Given the description of an element on the screen output the (x, y) to click on. 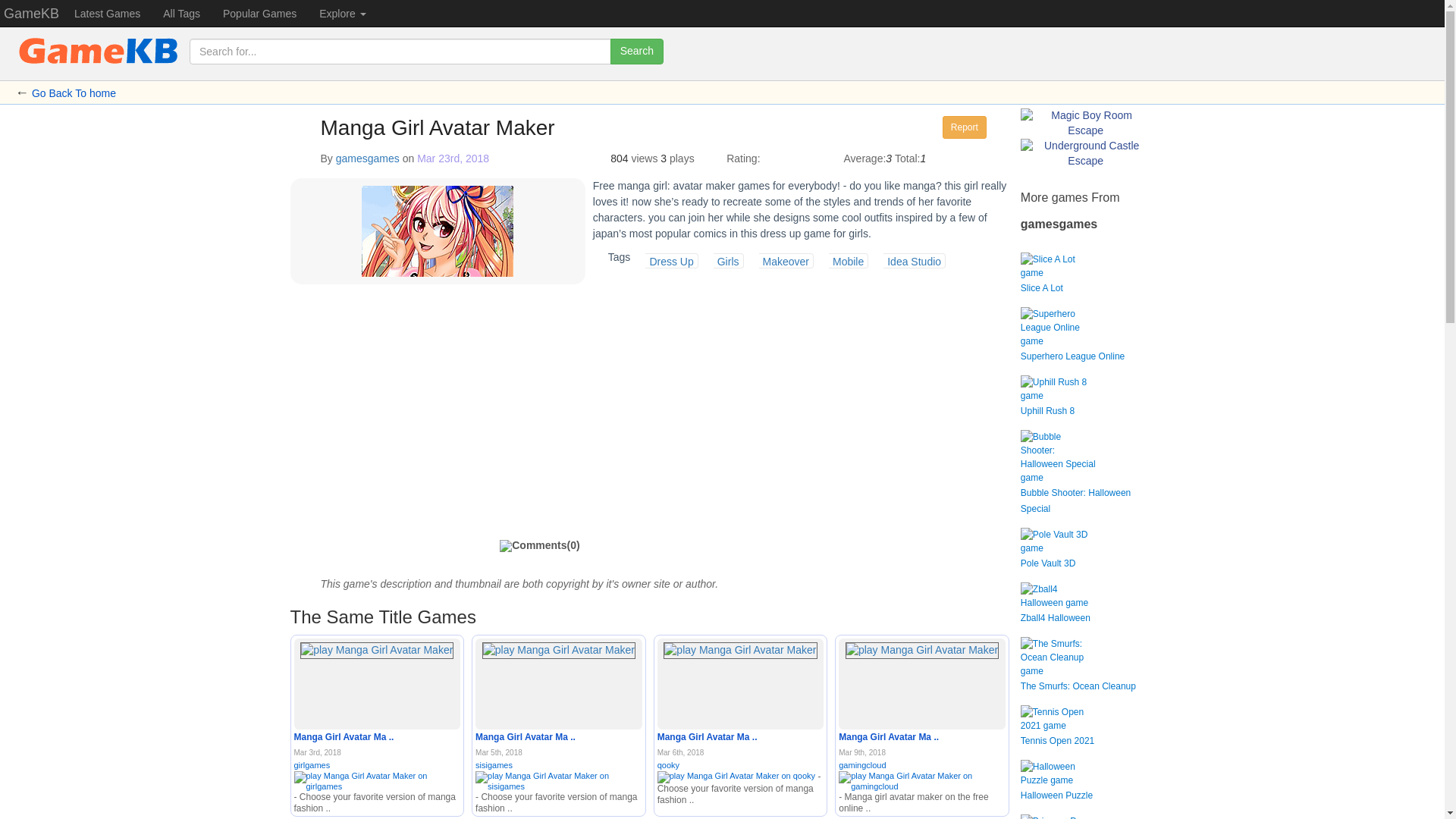
girlgames (377, 772)
Loved it (819, 156)
gamesgames (367, 158)
Manga Girl Avatar Maker (375, 650)
All Tags (181, 13)
Mobile (841, 260)
Manga Girl Avatar Maker (344, 737)
GameKB (31, 13)
Newest games (106, 13)
Report (964, 127)
1 (773, 156)
Manga Girl Avatar Maker (525, 737)
Manga Girl Avatar Ma .. (344, 737)
Popular Games (259, 13)
Dress Up (665, 260)
